Given the description of an element on the screen output the (x, y) to click on. 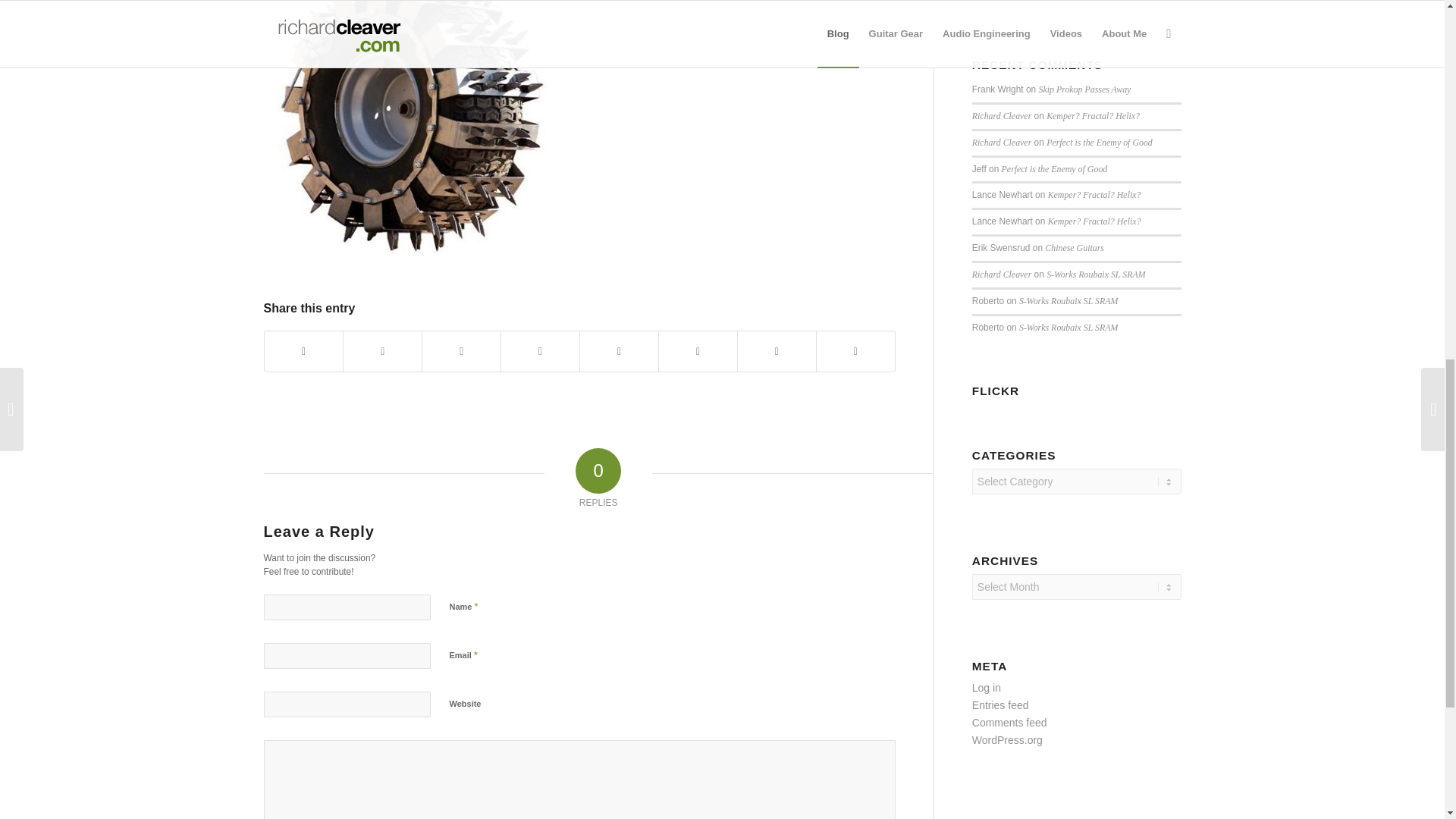
S-Works Roubaix SL SRAM (1068, 327)
Richard Cleaver (1001, 115)
spikes (415, 132)
Richard Cleaver (1001, 142)
Kemper? Fractal? Helix? (1094, 194)
Kemper? Fractal? Helix? (1094, 221)
Perfect is the Enemy of Good (1099, 142)
Chinese Guitars (1074, 247)
Perfect is the Enemy of Good (1054, 168)
S-Works Roubaix SL SRAM (1095, 274)
